Given the description of an element on the screen output the (x, y) to click on. 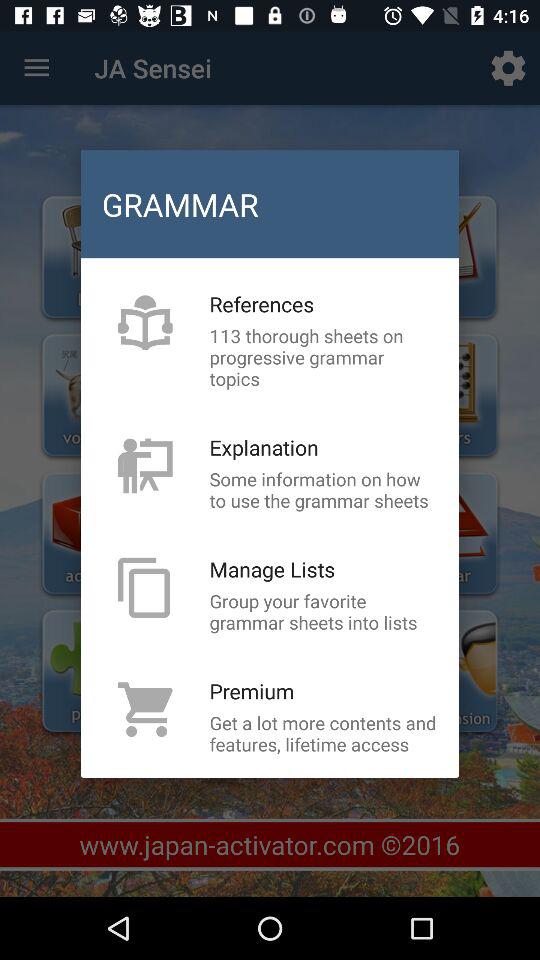
turn off item below the some information on item (272, 569)
